Given the description of an element on the screen output the (x, y) to click on. 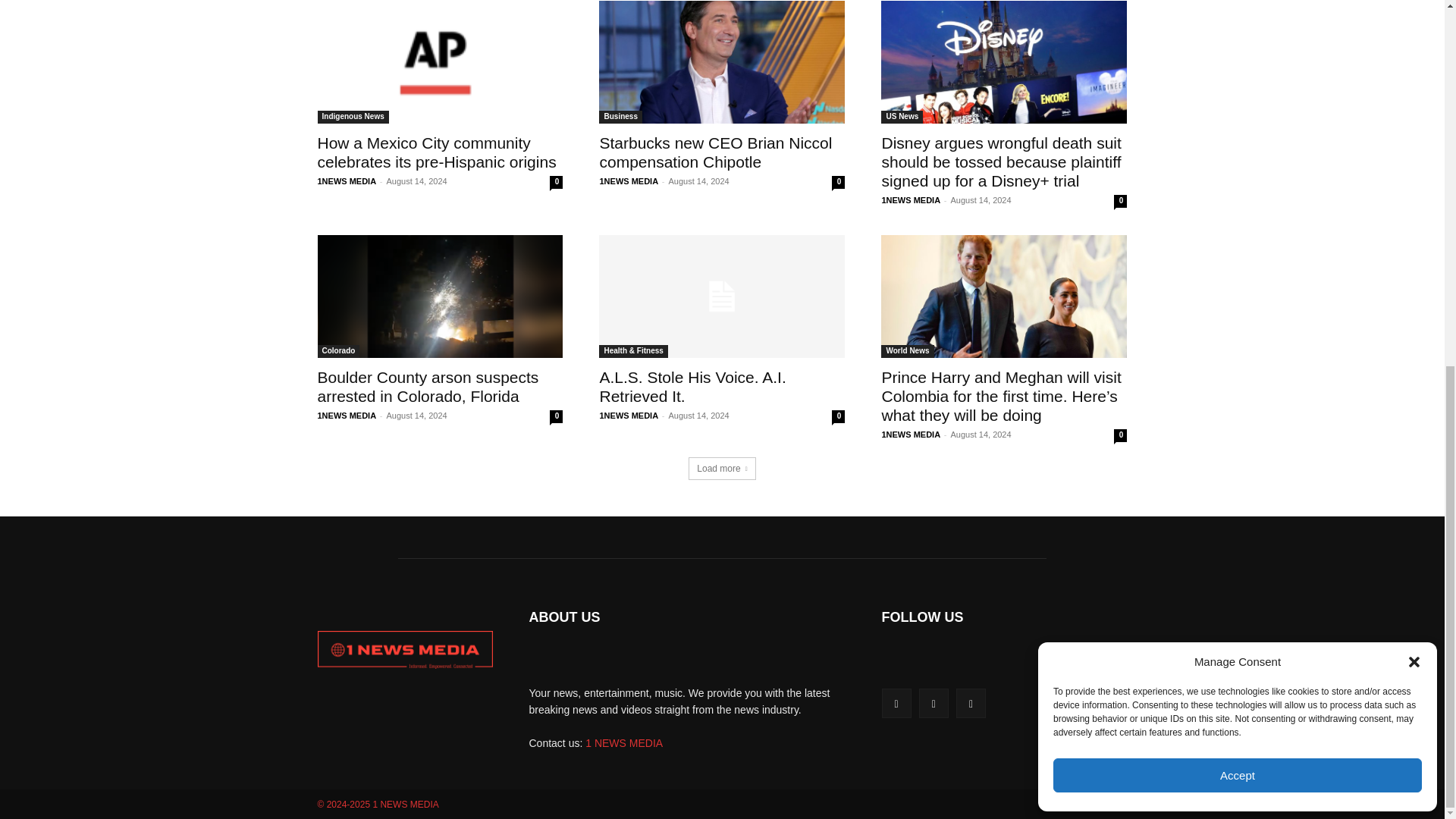
Starbucks new CEO Brian Niccol compensation Chipotle (714, 152)
A.L.S. Stole His Voice. A.I. Retrieved It. (721, 296)
Boulder County arson suspects arrested in Colorado, Florida (427, 386)
Accept (1237, 116)
A.L.S. Stole His Voice. A.I. Retrieved It. (692, 386)
Boulder County arson suspects arrested in Colorado, Florida (439, 296)
Starbucks new CEO Brian Niccol compensation Chipotle (721, 61)
